Given the description of an element on the screen output the (x, y) to click on. 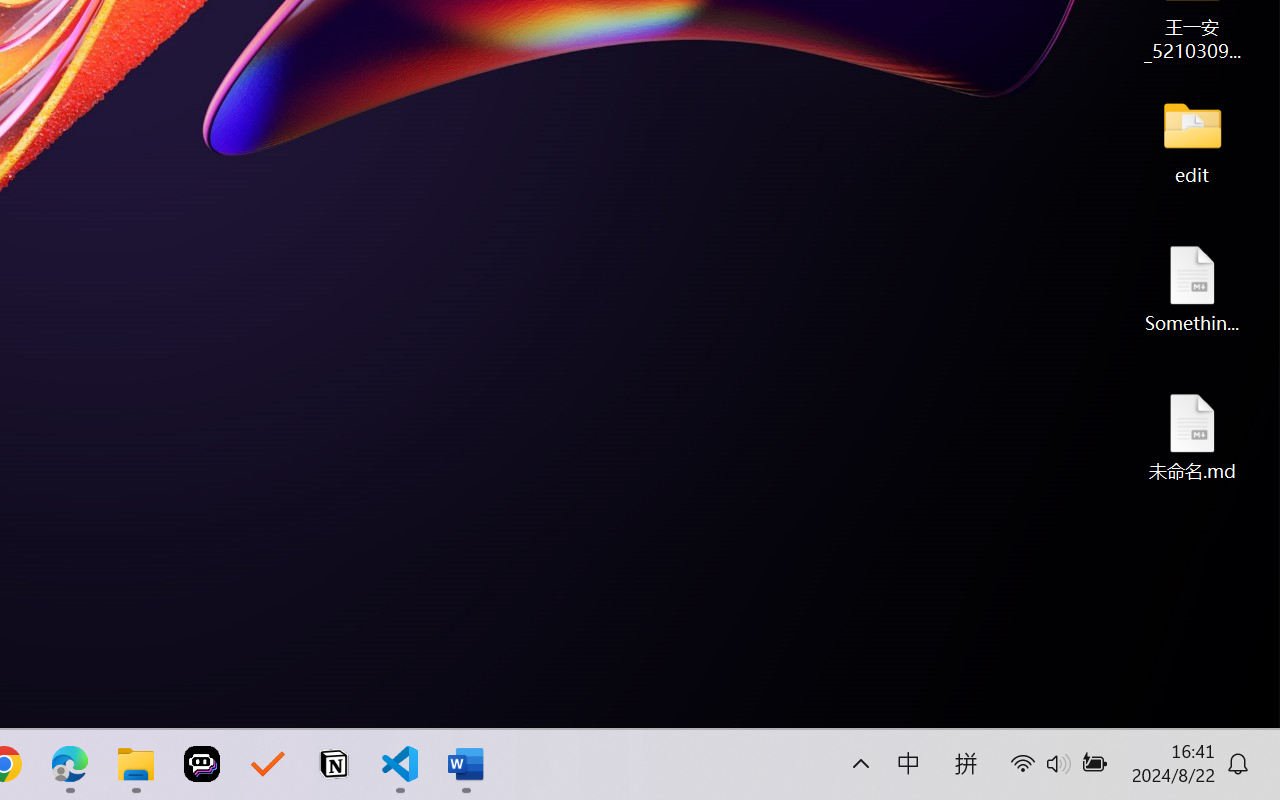
Something.md (1192, 288)
